Given the description of an element on the screen output the (x, y) to click on. 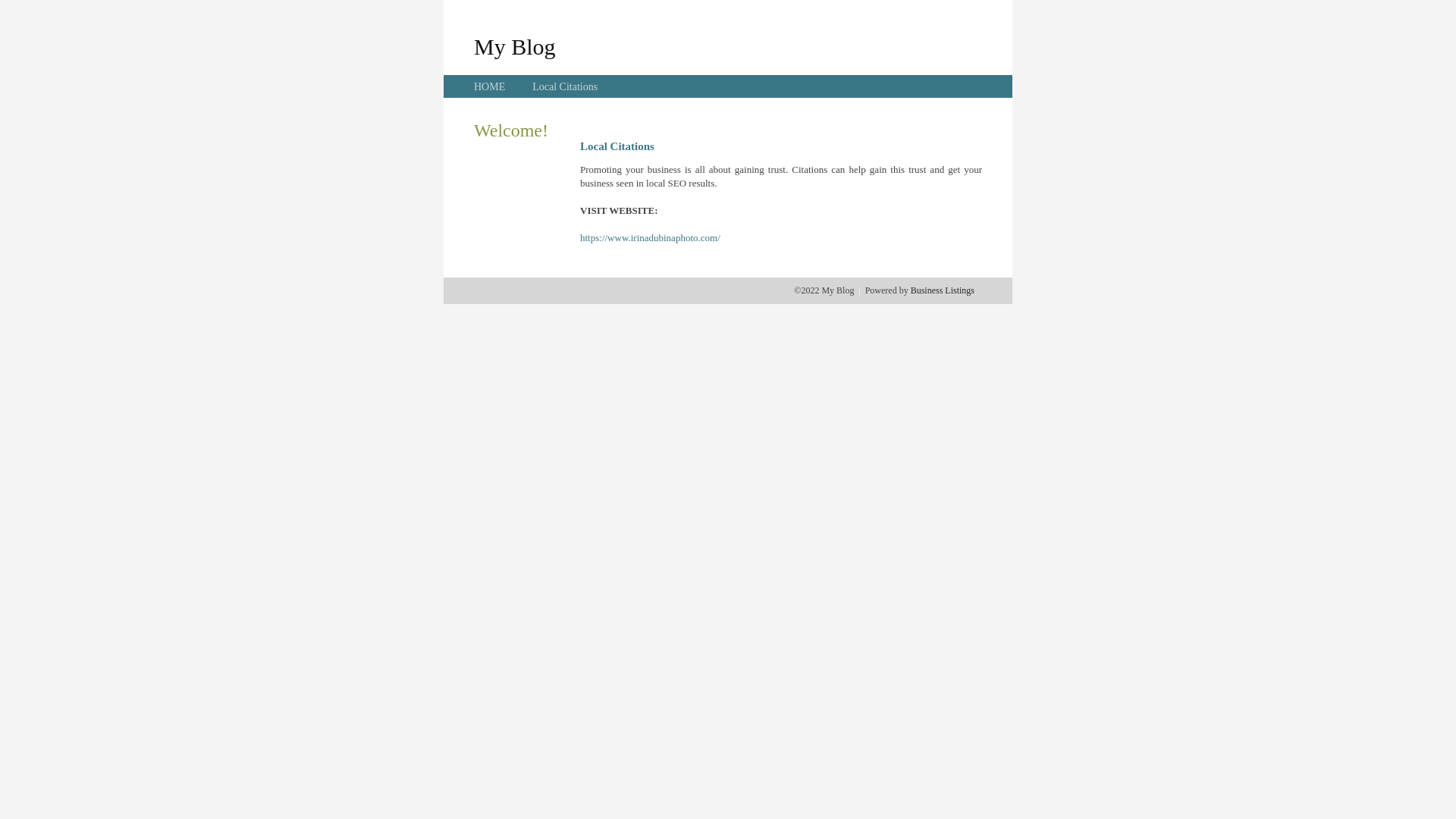
My Blog Element type: text (514, 46)
Local Citations Element type: text (564, 86)
Business Listings Element type: text (942, 290)
https://www.irinadubinaphoto.com/ Element type: text (650, 237)
HOME Element type: text (489, 86)
